Given the description of an element on the screen output the (x, y) to click on. 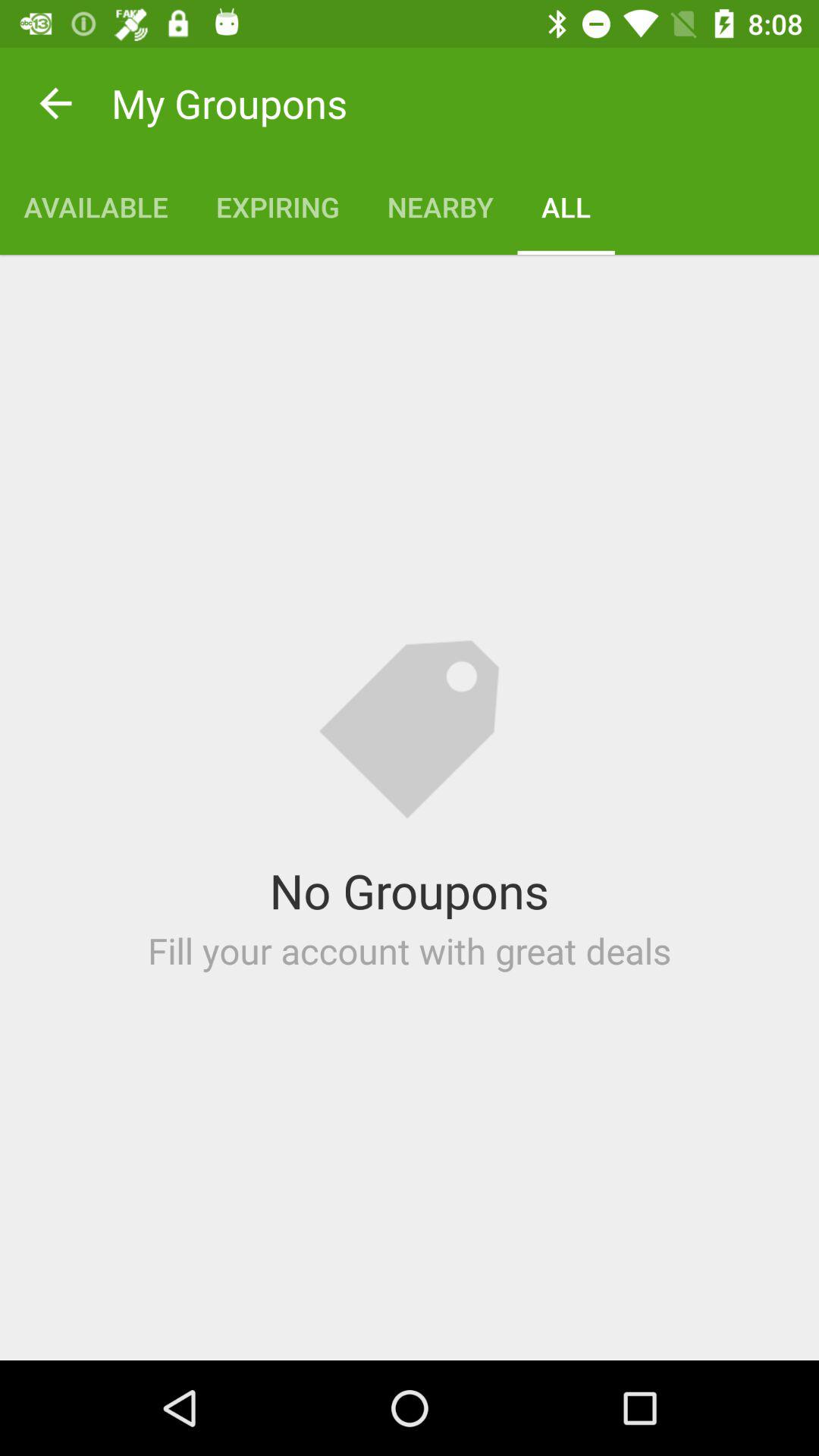
turn on the app next to nearby item (277, 206)
